Given the description of an element on the screen output the (x, y) to click on. 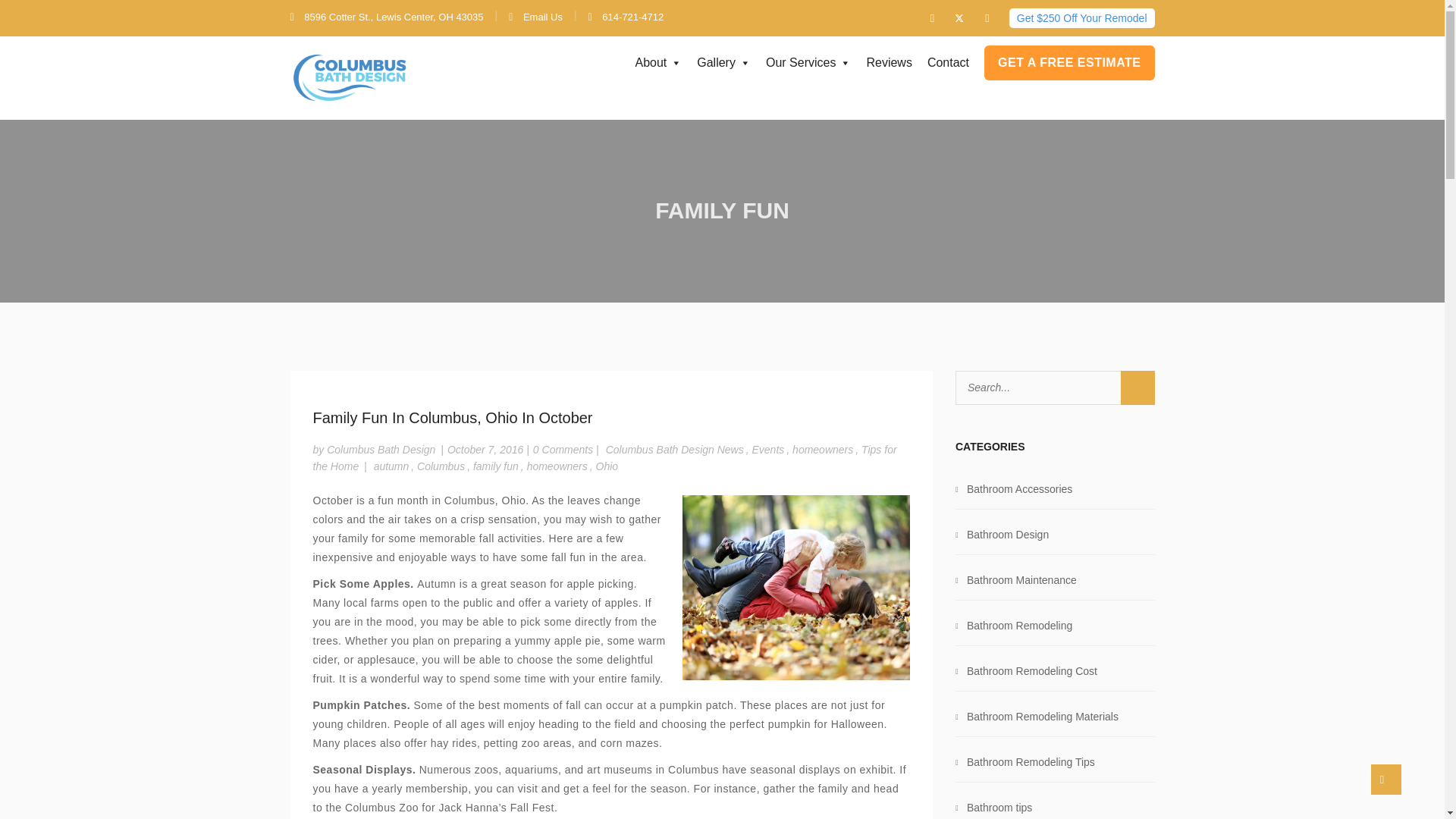
Email Us (535, 16)
Contact (948, 62)
About (657, 62)
8596 Cotter St., Lewis Center, OH 43035 (386, 16)
Search (1137, 387)
GET A FREE ESTIMATE (1069, 62)
Our Services (808, 62)
614-721-4712 (625, 16)
Reviews (888, 62)
Search (1137, 387)
Columbus Bath Designs (354, 77)
Gallery (723, 62)
